Given the description of an element on the screen output the (x, y) to click on. 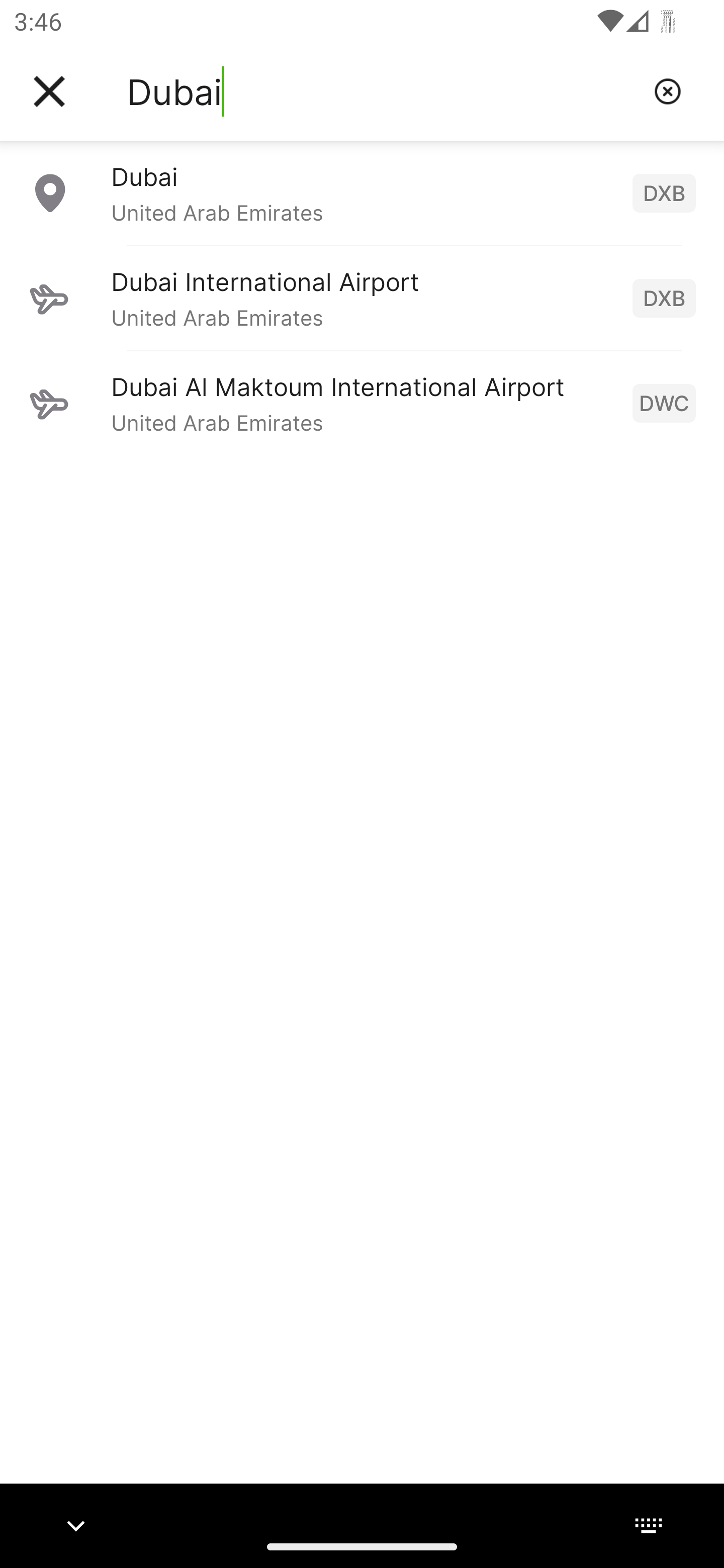
Dubai (382, 91)
Dubai United Arab Emirates DXB (362, 192)
